Given the description of an element on the screen output the (x, y) to click on. 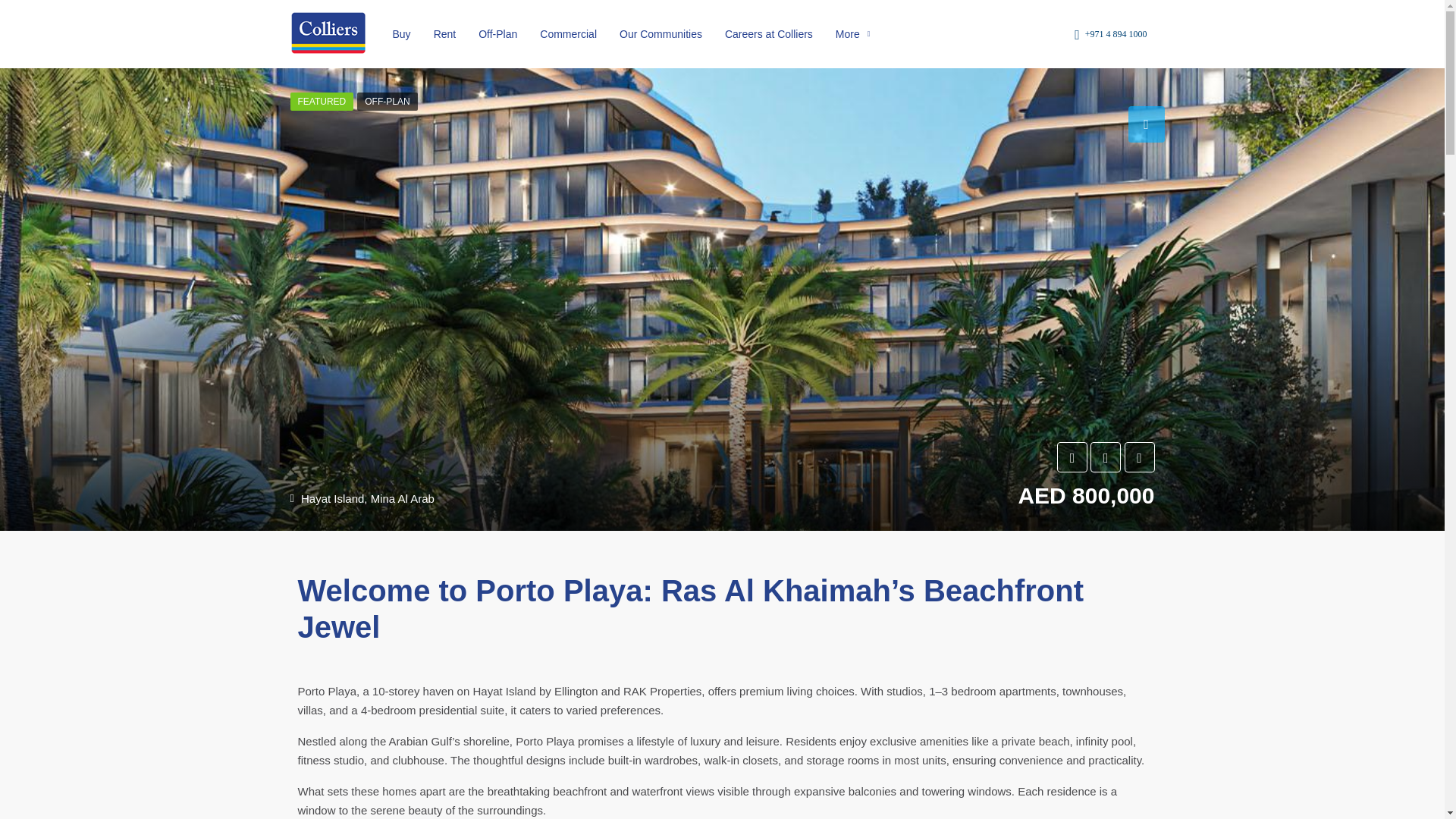
Off-Plan (497, 33)
OFF-PLAN (386, 101)
Careers at Colliers (768, 33)
Our Communities (660, 33)
Commercial (568, 33)
